Given the description of an element on the screen output the (x, y) to click on. 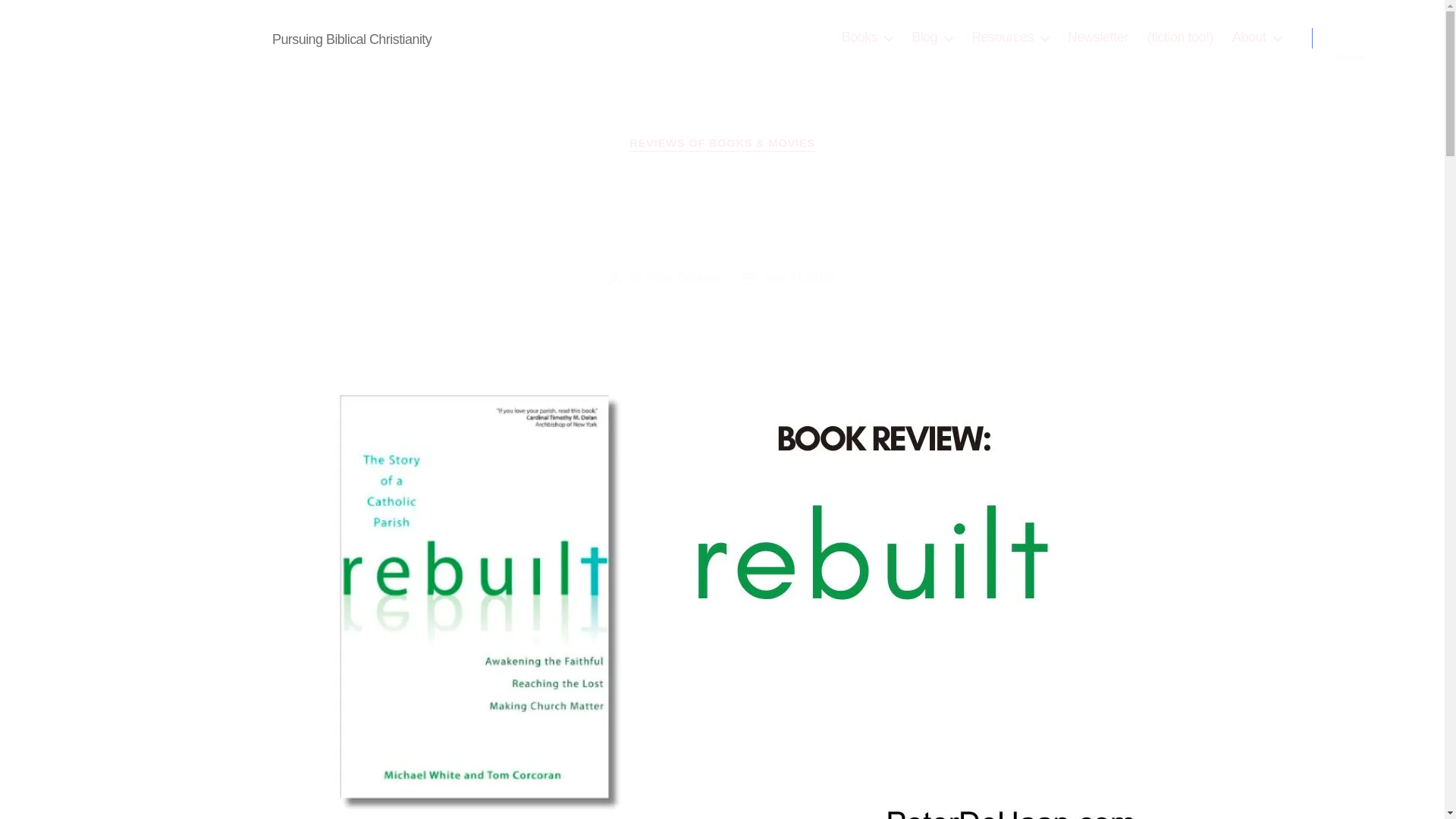
Author Peter DeHaan (168, 37)
Books (867, 37)
About (1256, 37)
Blog (931, 37)
Newsletter (1097, 37)
Search (1350, 37)
Resources (1009, 37)
